Given the description of an element on the screen output the (x, y) to click on. 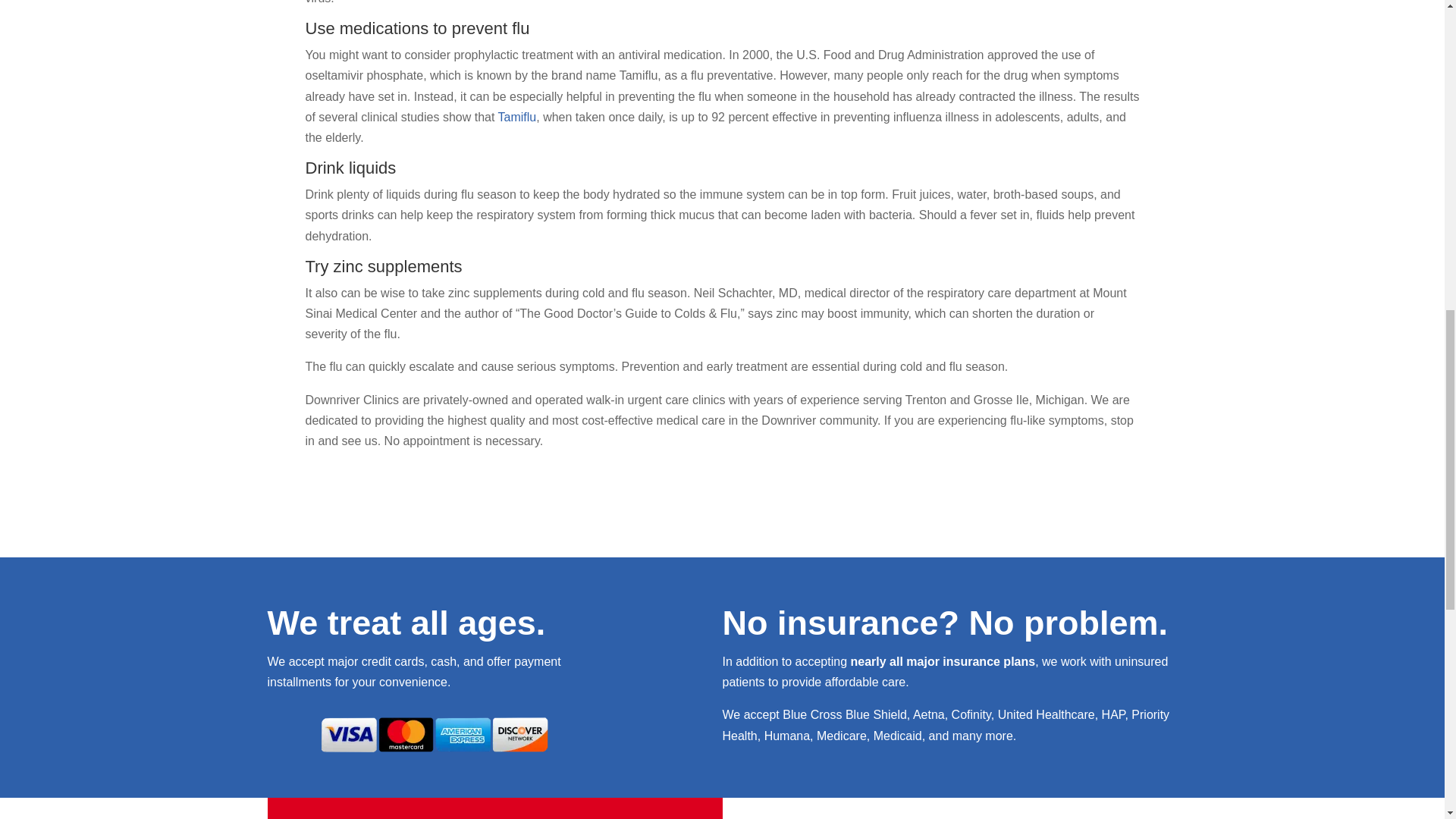
Tamiflu (517, 116)
